Given the description of an element on the screen output the (x, y) to click on. 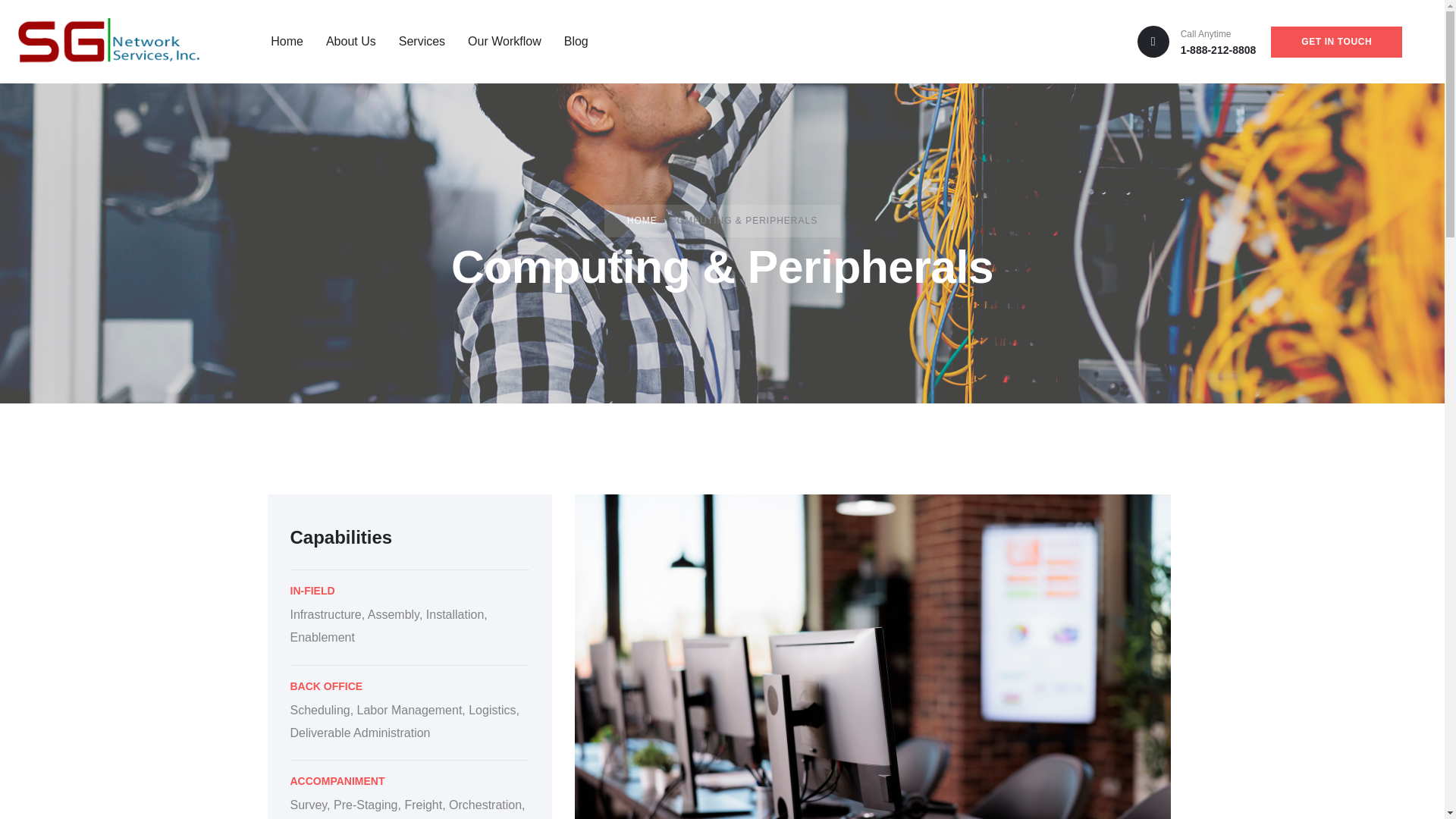
Home (279, 41)
Services (414, 41)
Blog (568, 41)
Services (414, 41)
Home (279, 41)
Our Workflow (496, 41)
About Us (343, 41)
Our Workflow (496, 41)
About Us (343, 41)
HOME (642, 220)
Blog (568, 41)
GET IN TOUCH (1336, 41)
